Given the description of an element on the screen output the (x, y) to click on. 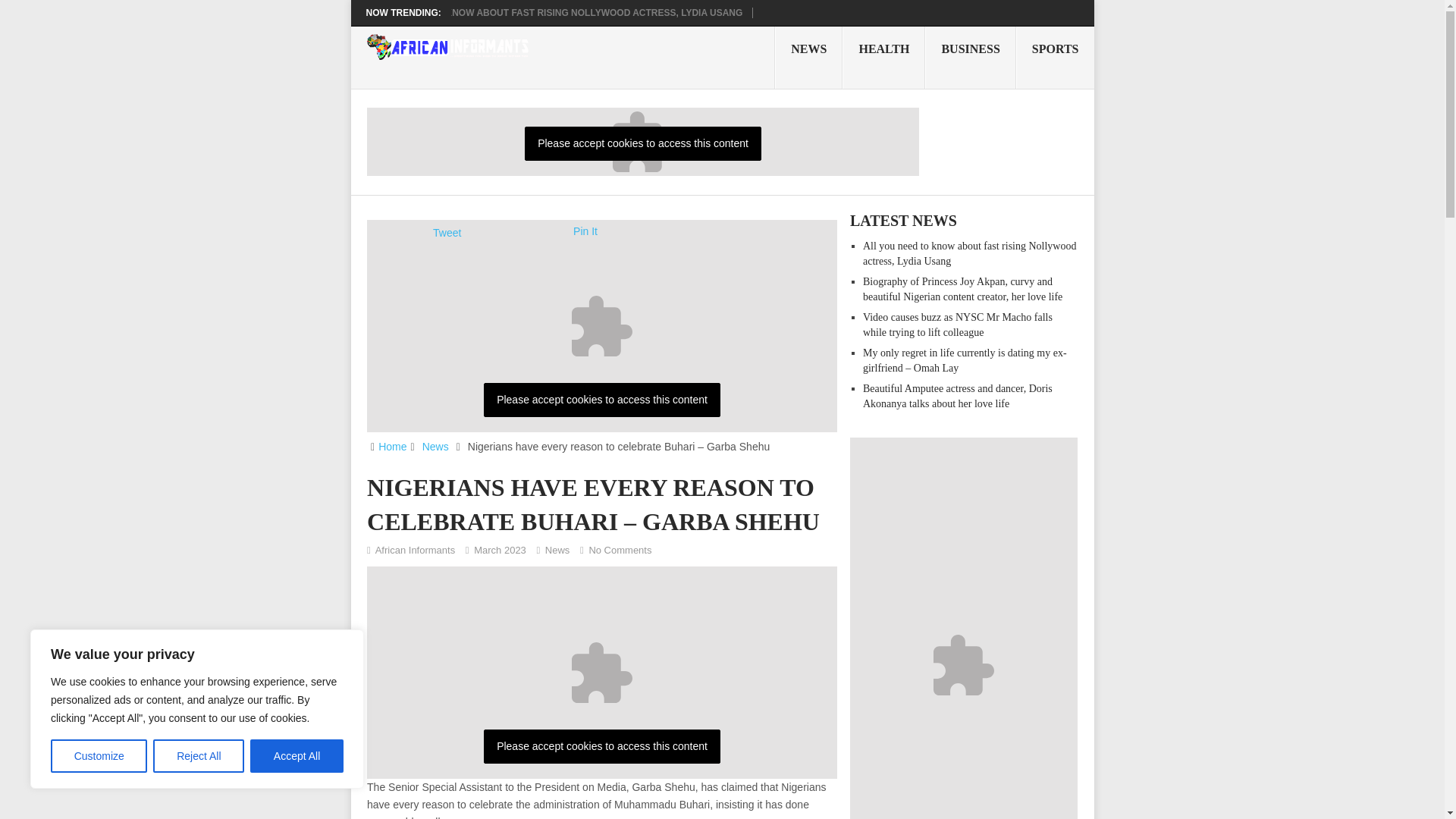
No Comments (619, 550)
BUSINESS (969, 57)
NEWS (808, 57)
News (435, 446)
Customize (98, 756)
Accept All (296, 756)
Home (392, 446)
View all posts in News (557, 550)
Reject All (198, 756)
SPORTS (1055, 57)
Posts by African Informants (415, 550)
African Informants (415, 550)
HEALTH (883, 57)
